Given the description of an element on the screen output the (x, y) to click on. 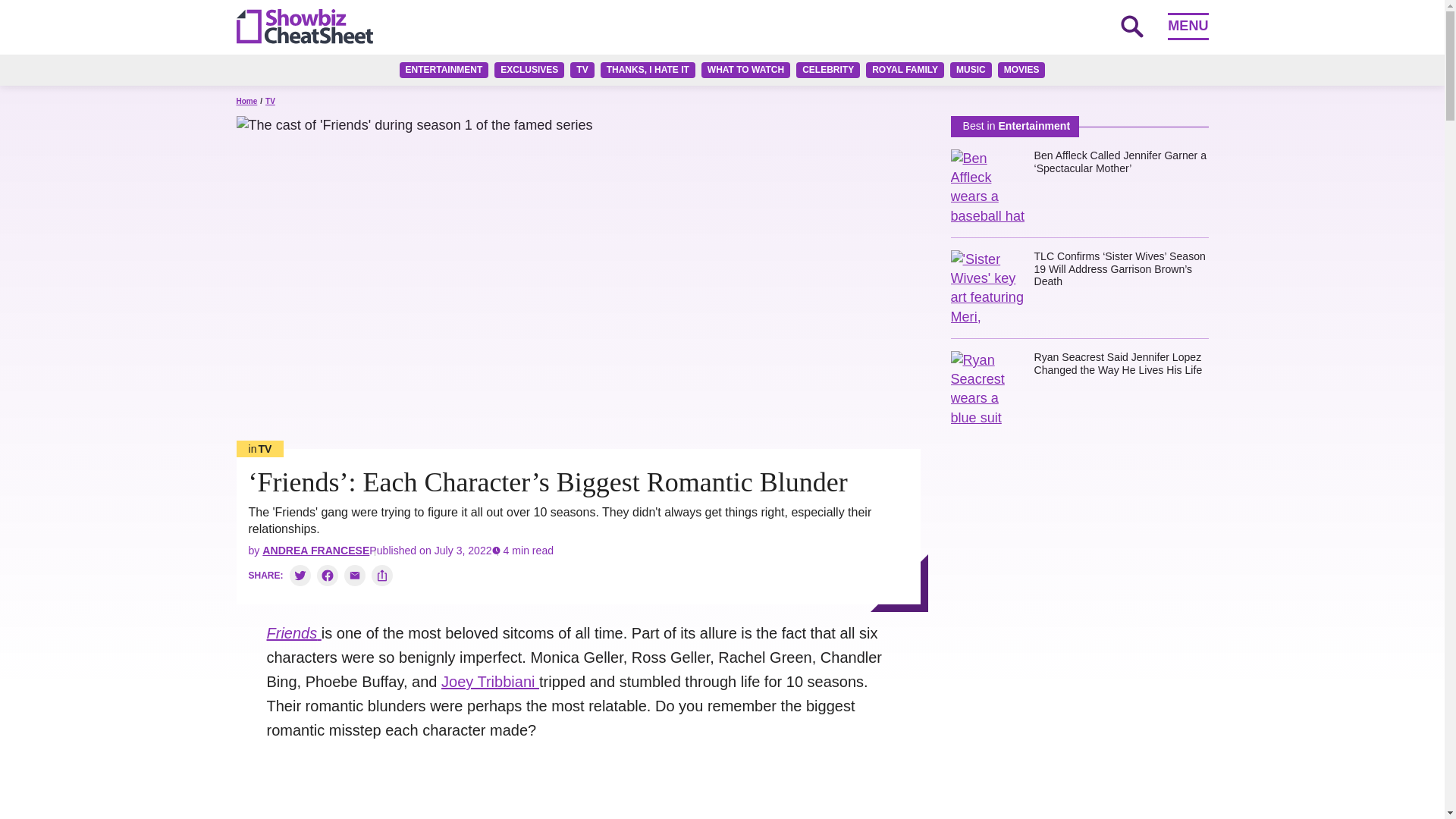
CELEBRITY (828, 69)
Expand Search (1131, 26)
EXCLUSIVES (529, 69)
THANKS, I HATE IT (647, 69)
MENU (1187, 26)
Copy link and share:  (382, 575)
Friends  (293, 632)
Share on Facebook: (327, 575)
Home (246, 101)
